Given the description of an element on the screen output the (x, y) to click on. 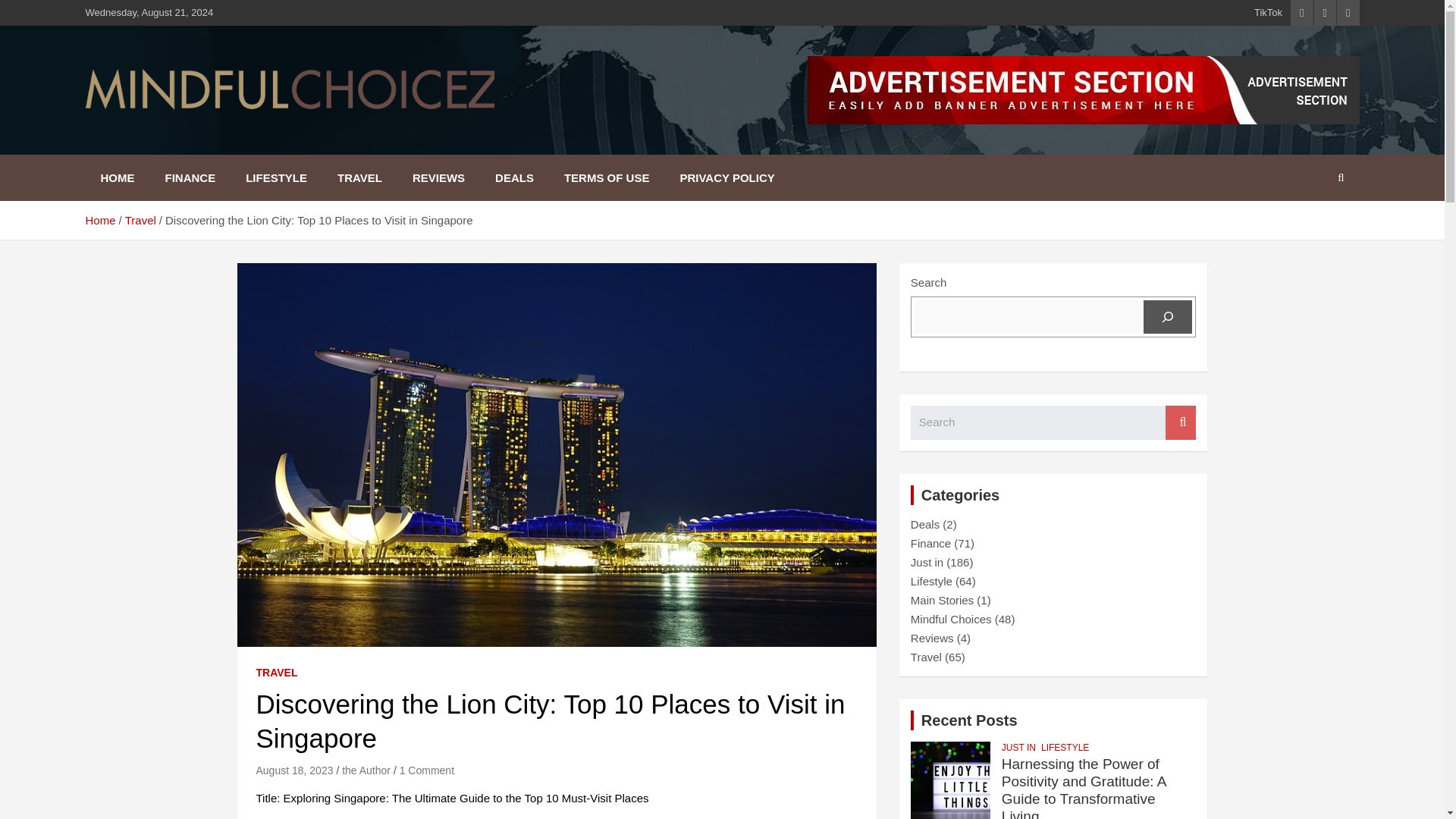
Finance (930, 543)
PRIVACY POLICY (726, 177)
Deals (925, 523)
TRAVEL (277, 672)
Reviews (932, 637)
the Author (366, 770)
REVIEWS (438, 177)
LIFESTYLE (275, 177)
Lifestyle (931, 581)
